Given the description of an element on the screen output the (x, y) to click on. 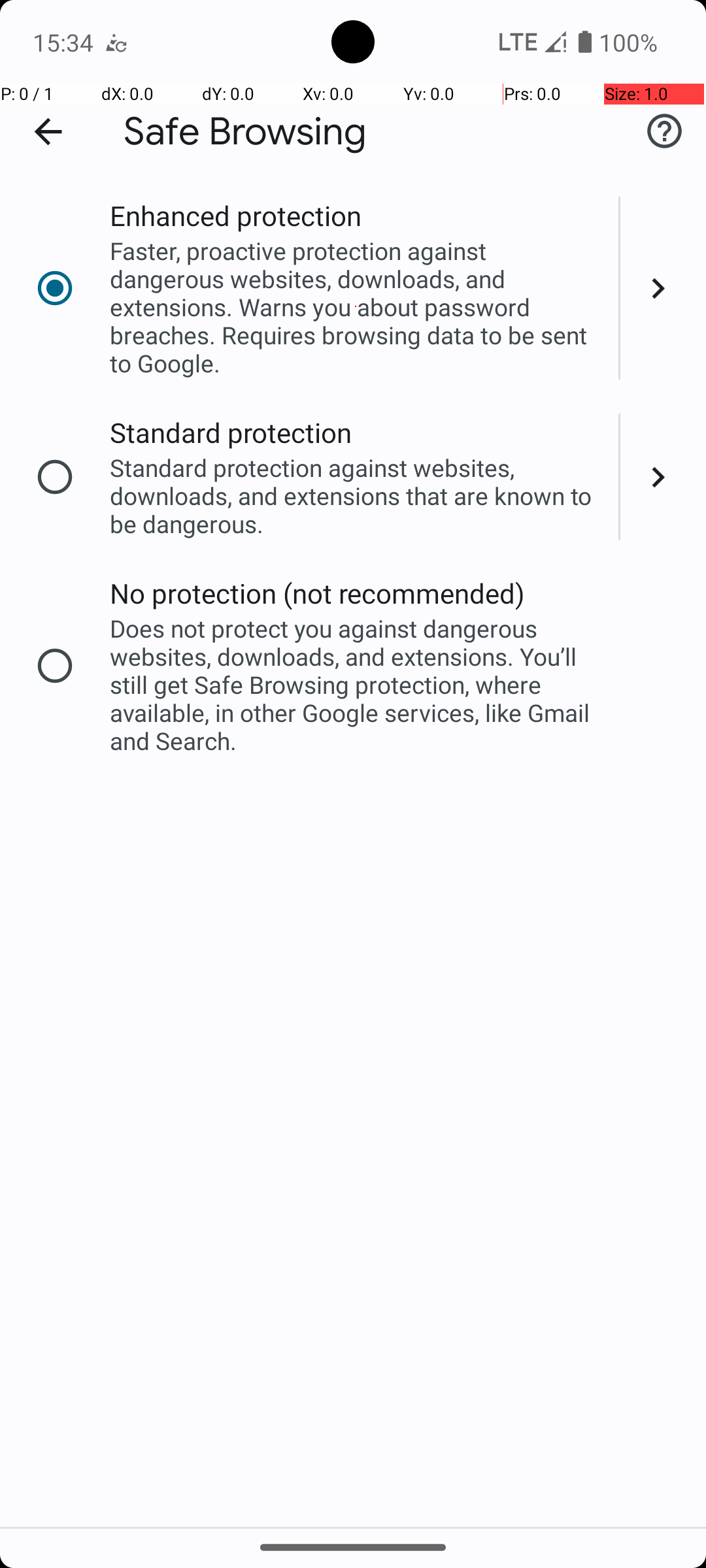
Safe Browsing Element type: android.widget.TextView (244, 131)
Enhanced protection Element type: android.widget.TextView (235, 214)
Faster, proactive protection against dangerous websites, downloads, and extensions. Warns you about password breaches. Requires browsing data to be sent to Google. Element type: android.widget.TextView (355, 306)
Standard protection Element type: android.widget.TextView (230, 431)
Standard protection against websites, downloads, and extensions that are known to be dangerous. Element type: android.widget.TextView (355, 495)
No protection (not recommended) Element type: android.widget.TextView (317, 592)
Does not protect you against dangerous websites, downloads, and extensions. You’ll still get Safe Browsing protection, where available, in other Google services, like Gmail and Search. Element type: android.widget.TextView (355, 684)
